Given the description of an element on the screen output the (x, y) to click on. 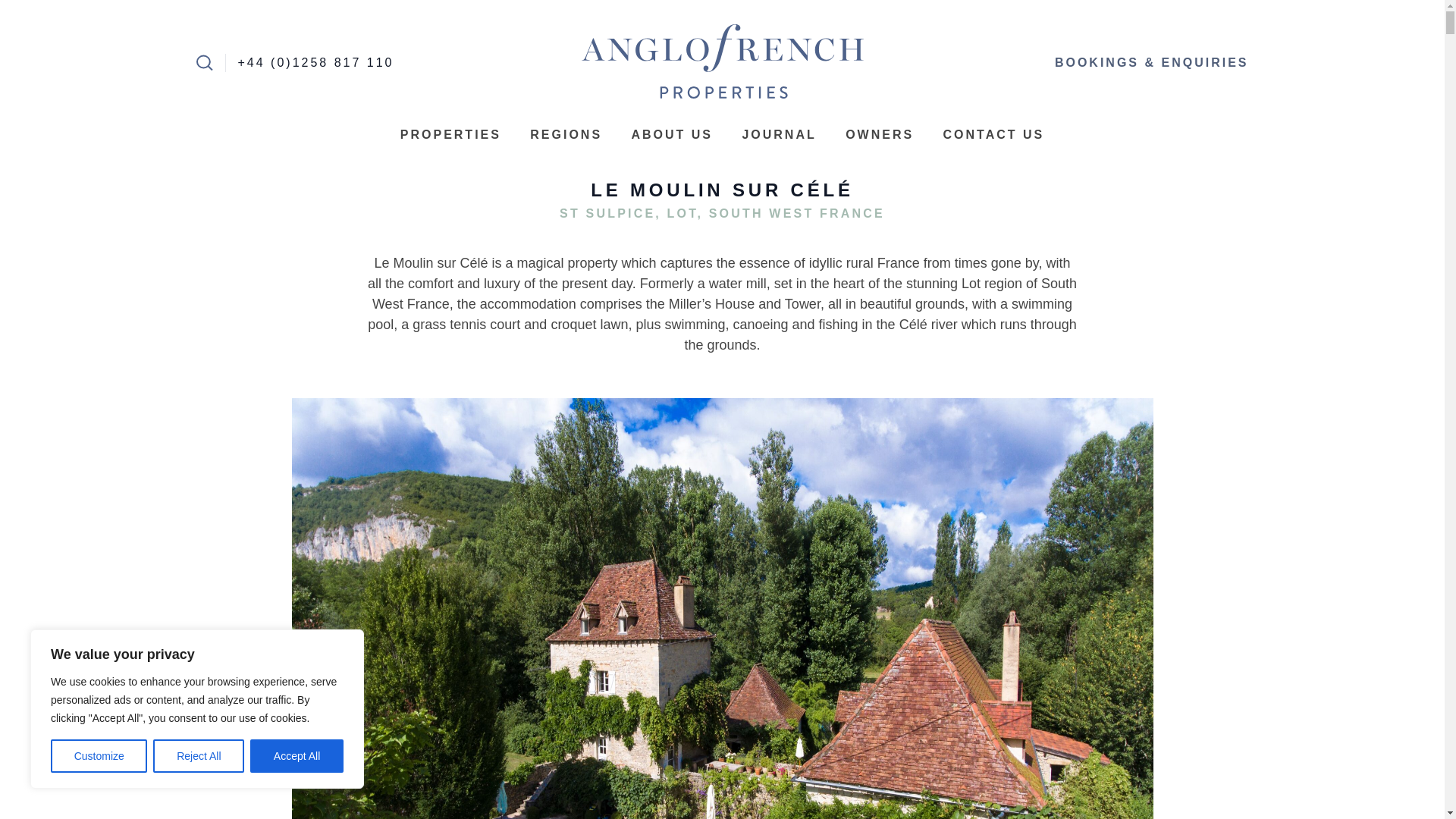
Reject All (198, 756)
Accept All (296, 756)
Customize (98, 756)
